Given the description of an element on the screen output the (x, y) to click on. 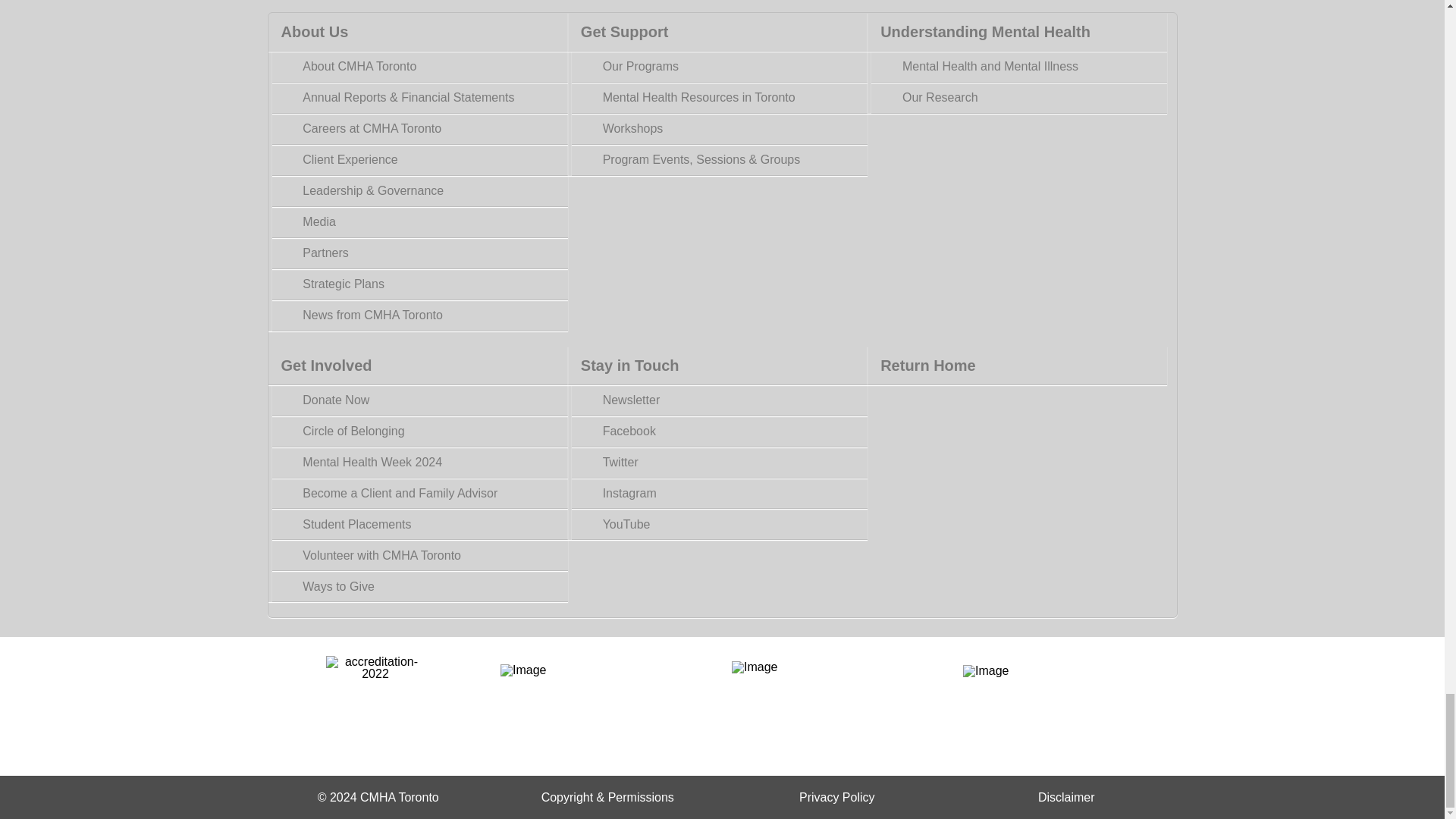
Disclaimer (1066, 797)
Privacy Policy (837, 797)
Copyright and Permissions (607, 797)
